Given the description of an element on the screen output the (x, y) to click on. 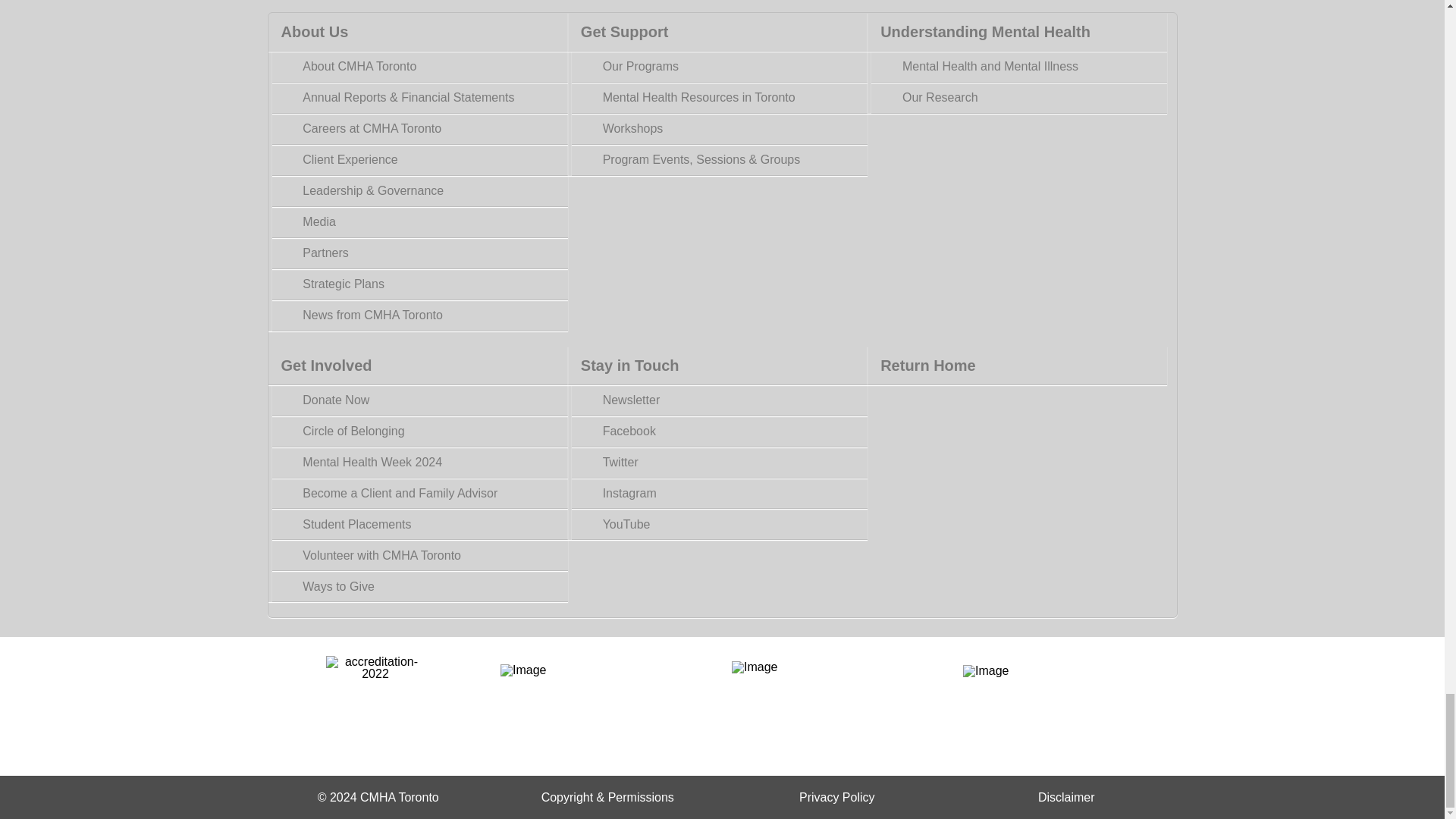
Disclaimer (1066, 797)
Privacy Policy (837, 797)
Copyright and Permissions (607, 797)
